Given the description of an element on the screen output the (x, y) to click on. 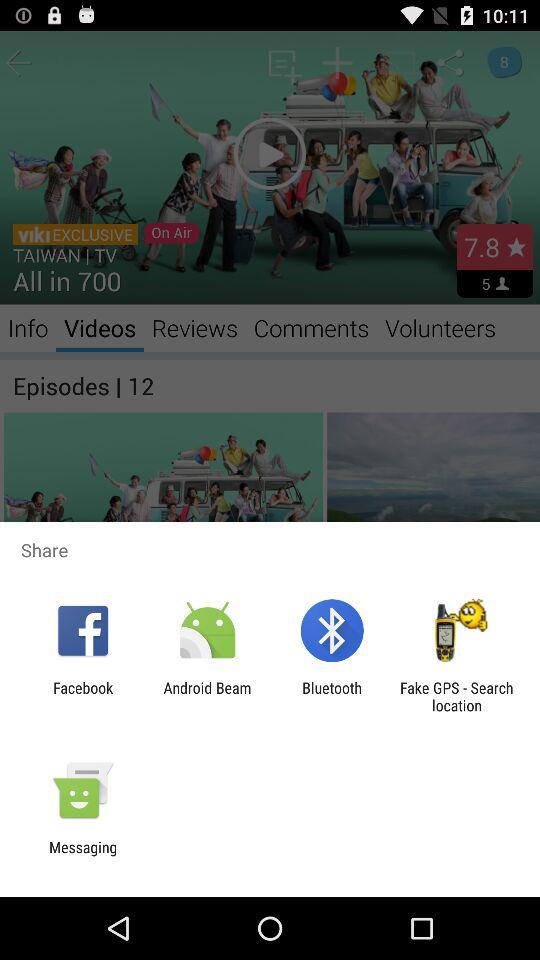
tap icon next to fake gps search item (331, 696)
